Given the description of an element on the screen output the (x, y) to click on. 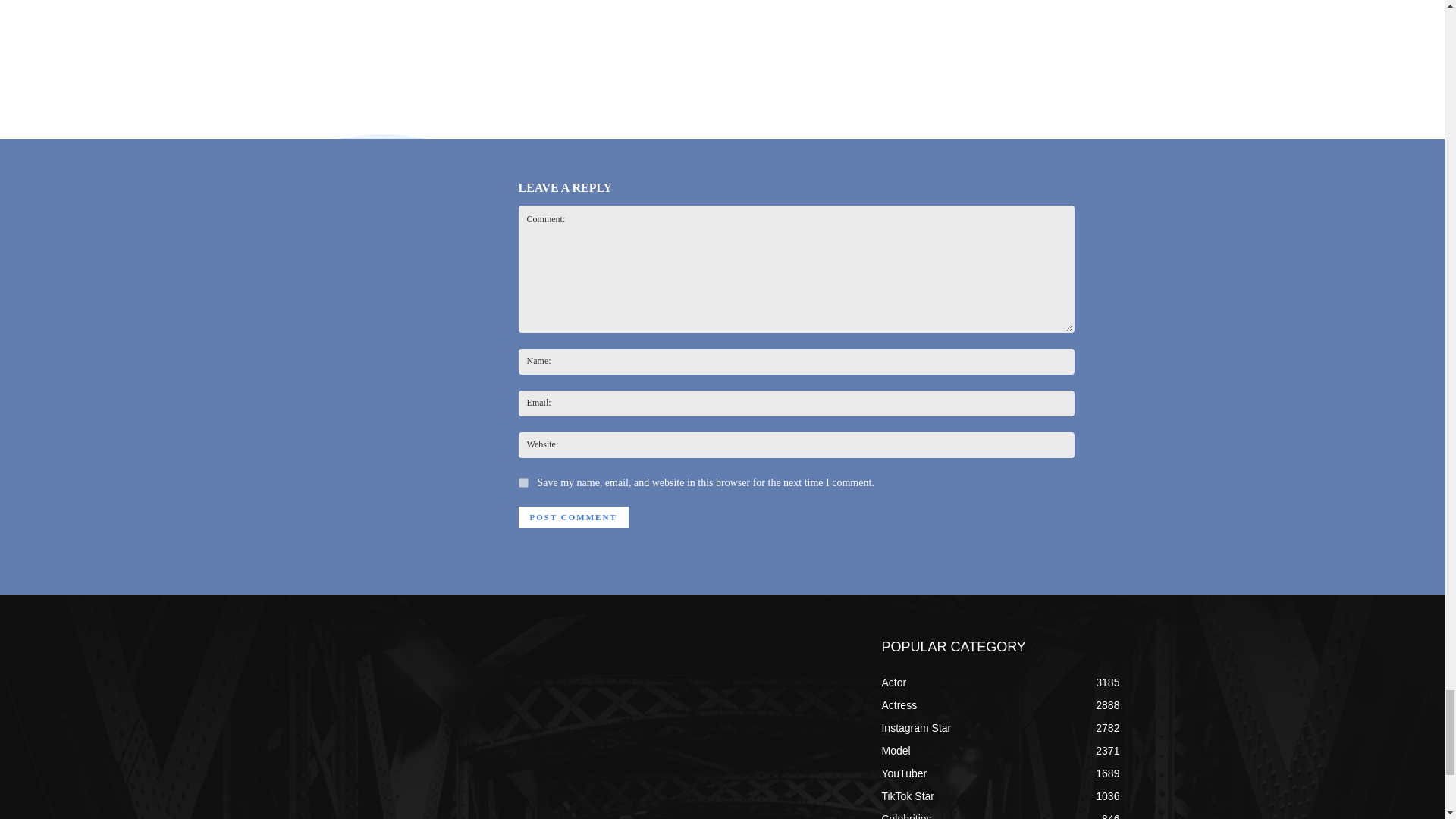
Post Comment (573, 516)
yes (523, 482)
